Given the description of an element on the screen output the (x, y) to click on. 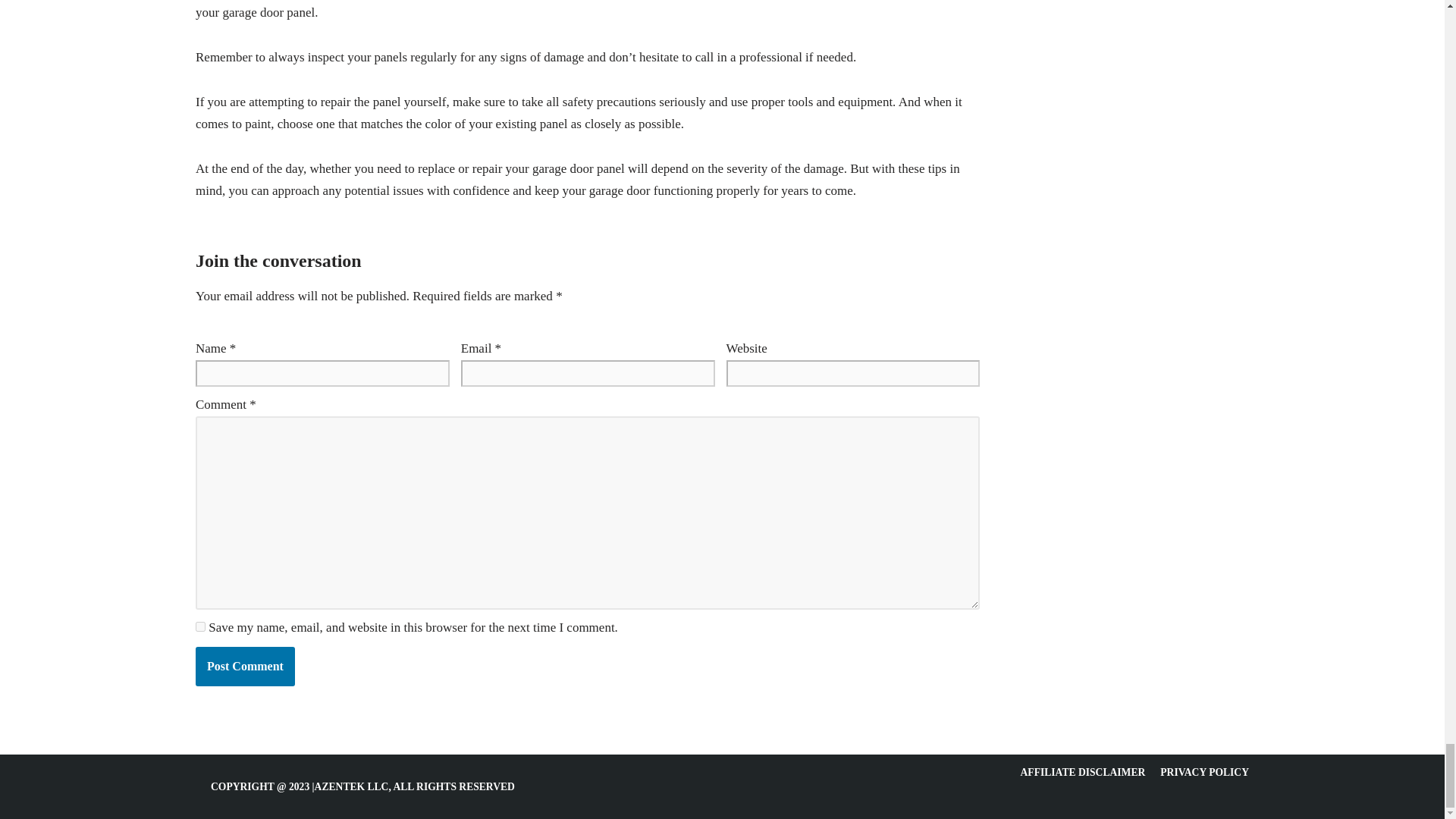
Post Comment (245, 666)
yes (200, 626)
